Given the description of an element on the screen output the (x, y) to click on. 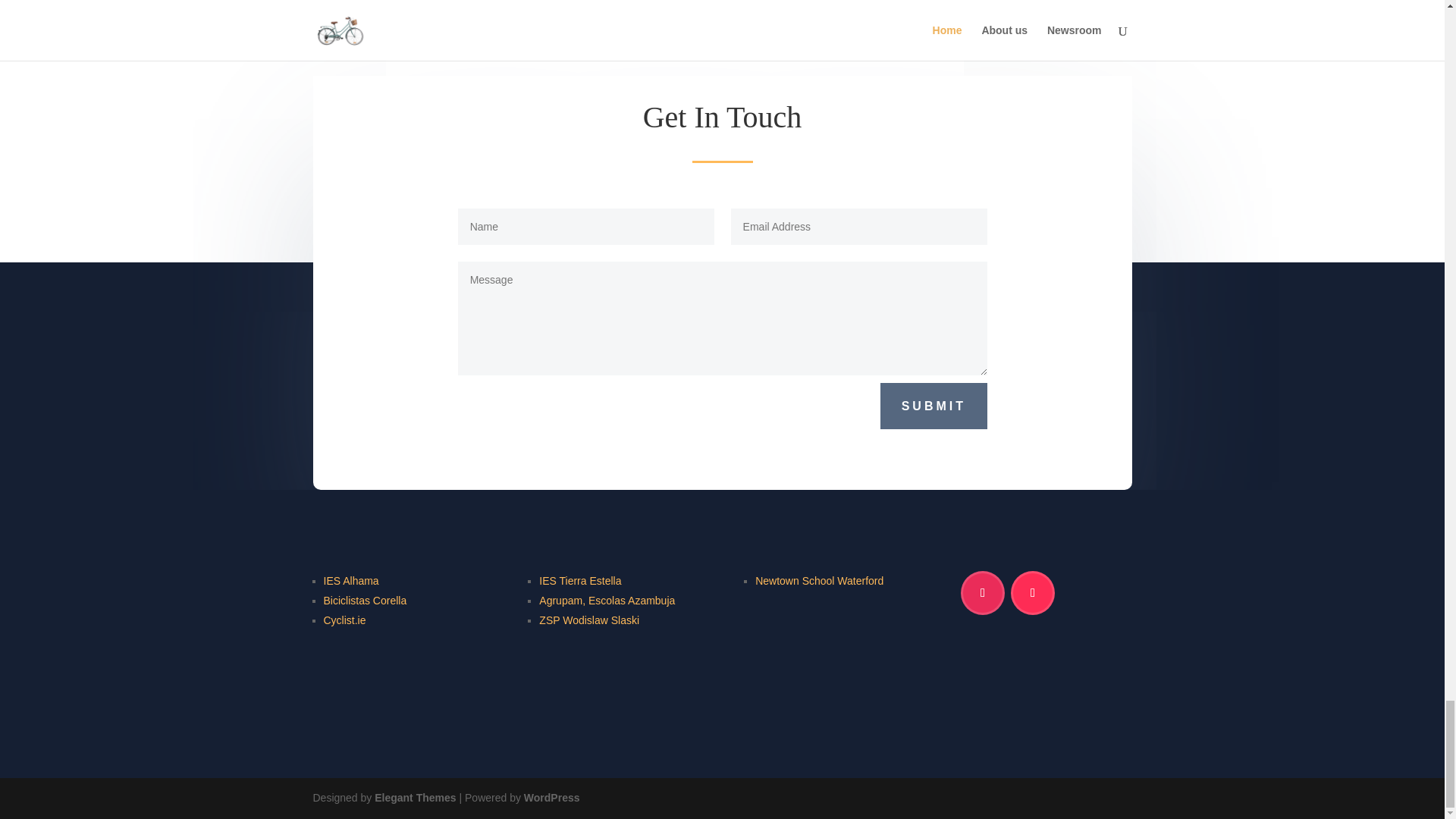
IES Tierra Estella (579, 580)
Newtown School Waterford (819, 580)
Cyclist.ie (344, 620)
Agrupam, Escolas Azambuja (606, 600)
Biciclistas Corella (364, 600)
SUBMIT (933, 406)
Elegant Themes (414, 797)
ZSP Wodislaw Slaski (588, 620)
WordPress (551, 797)
Follow on Instagram (982, 592)
